Given the description of an element on the screen output the (x, y) to click on. 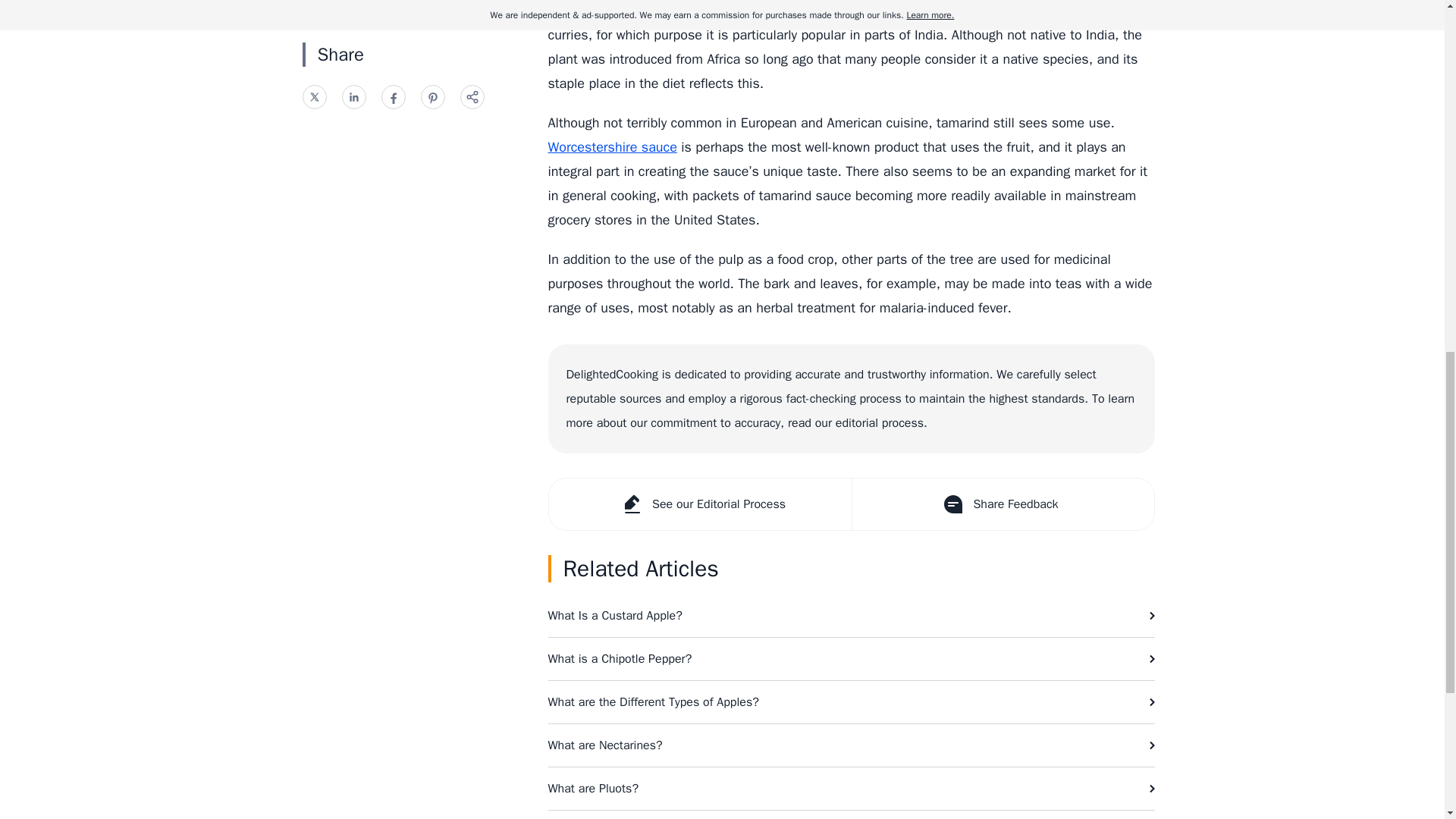
What Is a Custard Apple? (850, 615)
What are Nectarines? (850, 744)
What is a Chipotle Pepper? (850, 659)
What are the Different Types of Grapes? (850, 814)
What are the Different Types of Apples? (850, 701)
Worcestershire sauce (612, 146)
What are Pluots? (850, 788)
See our Editorial Process (699, 503)
Share Feedback (1001, 503)
